Given the description of an element on the screen output the (x, y) to click on. 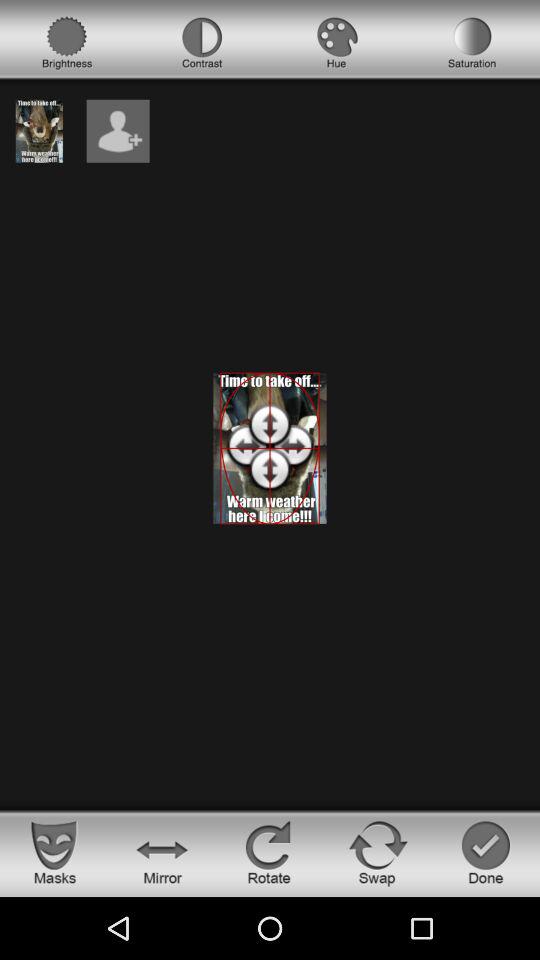
swap (377, 852)
